Given the description of an element on the screen output the (x, y) to click on. 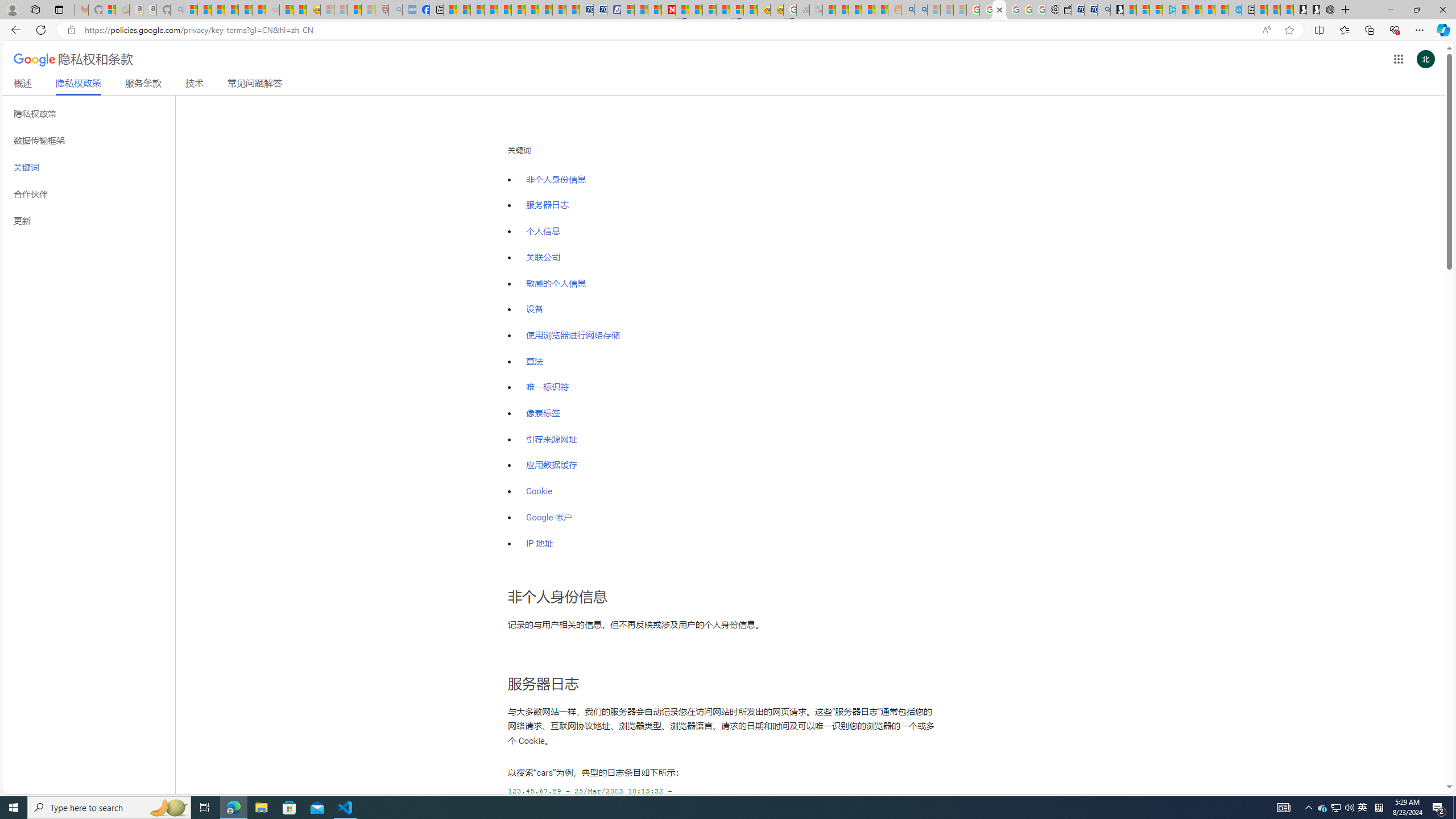
New Report Confirms 2023 Was Record Hot | Watch (245, 9)
